Given the description of an element on the screen output the (x, y) to click on. 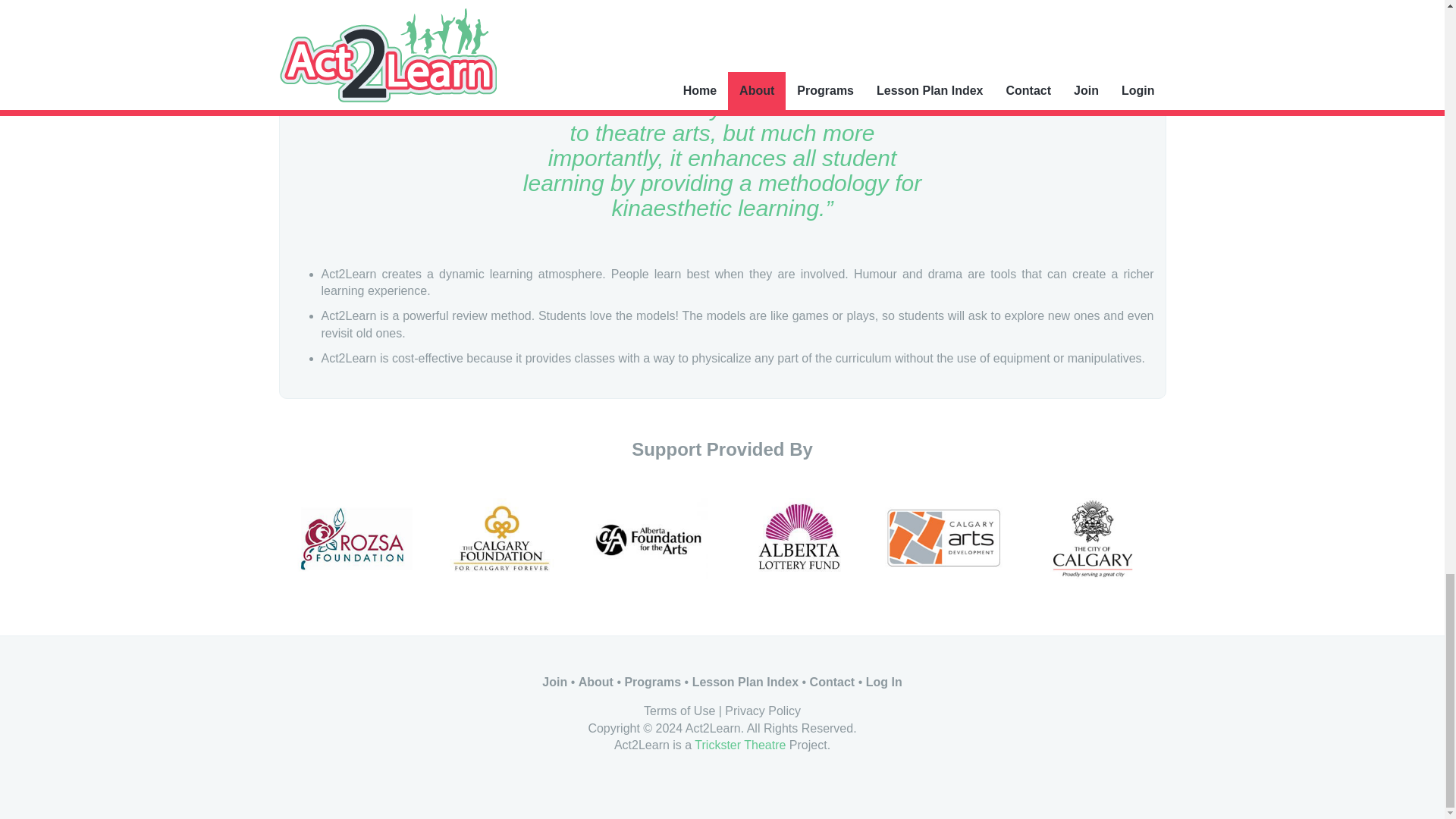
Log In (884, 681)
Programs (652, 681)
Lesson Plan Index (745, 681)
Terms of Use (678, 710)
About (595, 681)
Join (554, 681)
Trickster Theatre (740, 744)
Contact (832, 681)
Privacy Policy (762, 710)
